Given the description of an element on the screen output the (x, y) to click on. 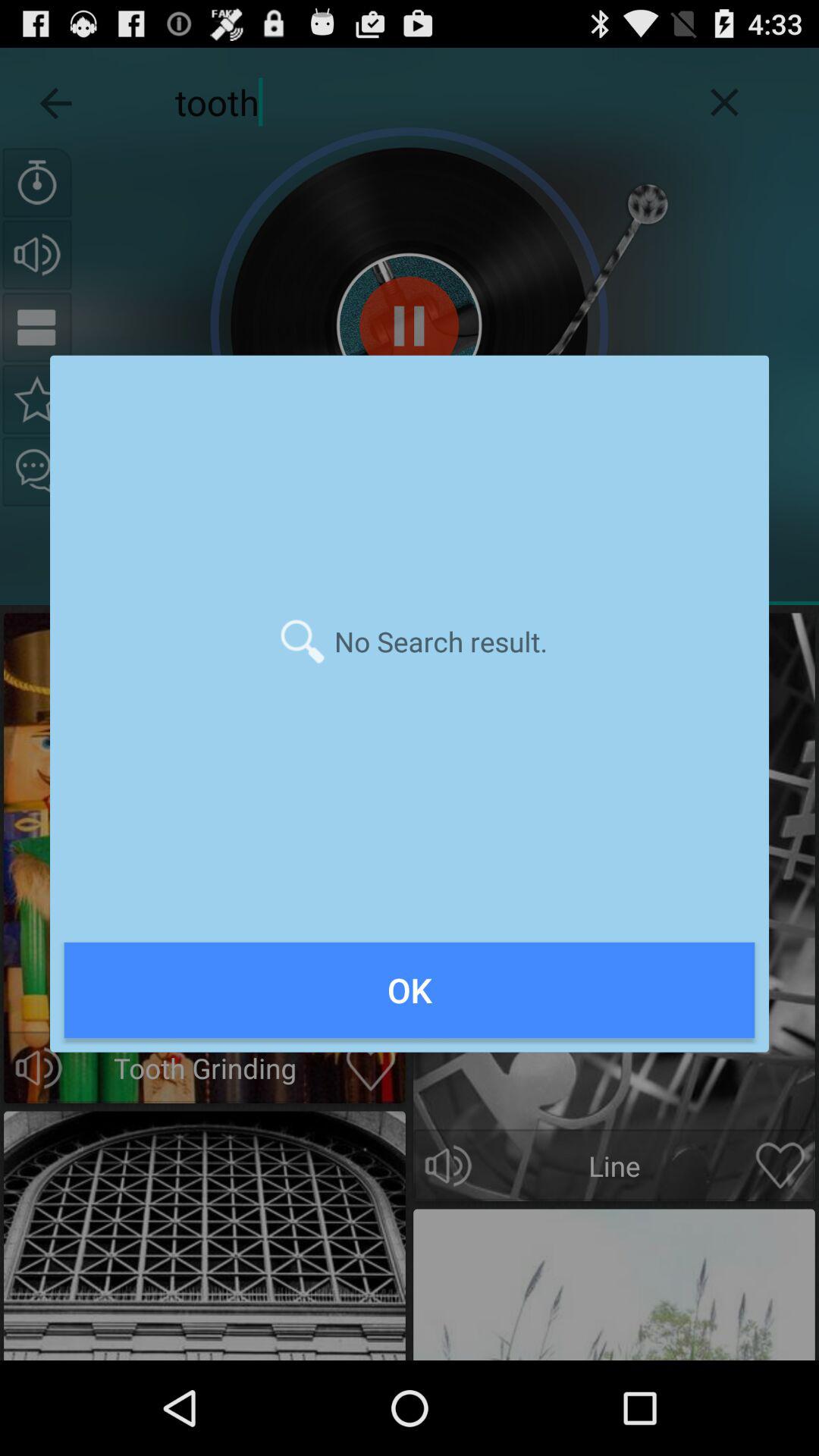
turn on icon at the bottom (409, 989)
